Given the description of an element on the screen output the (x, y) to click on. 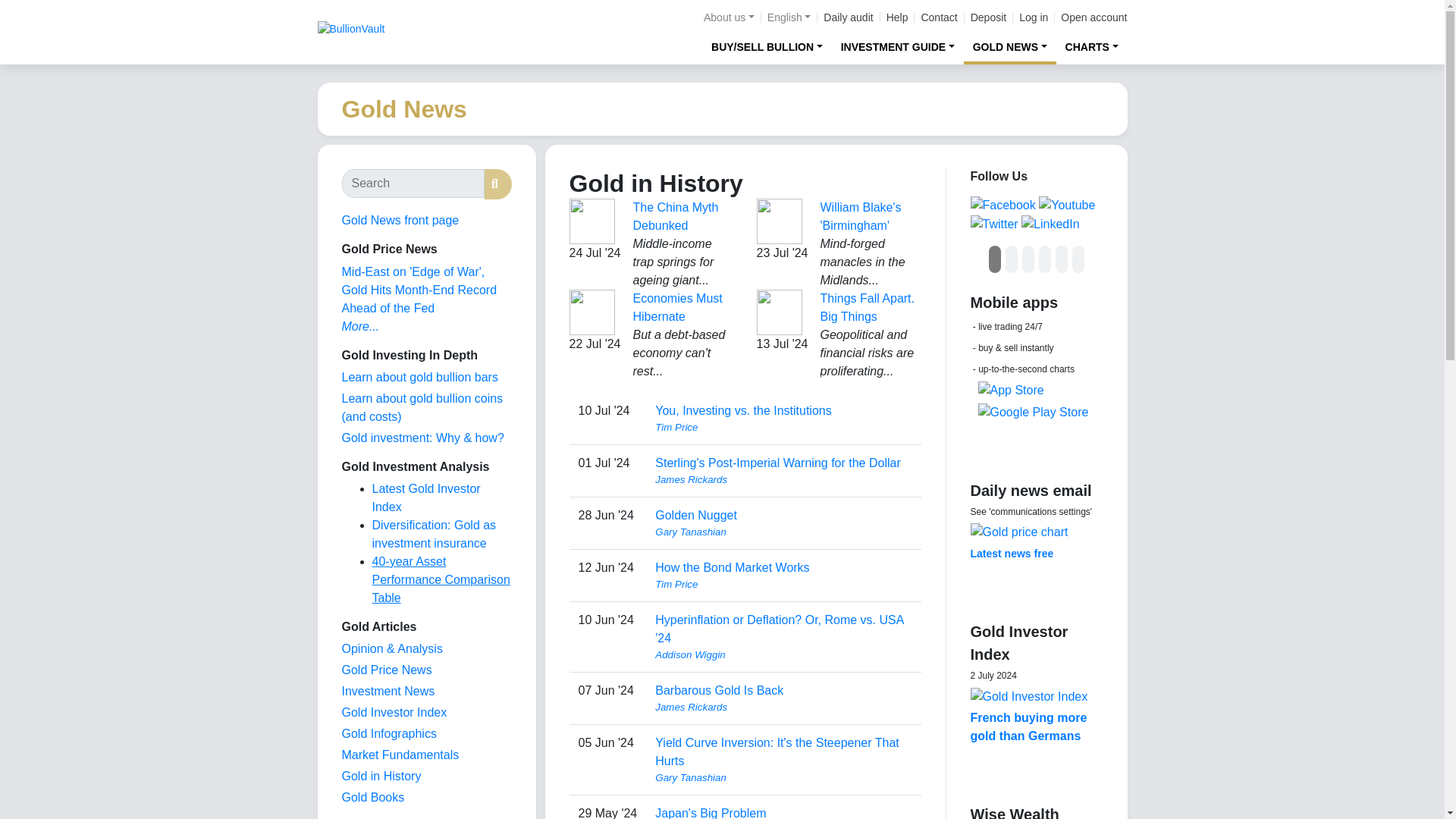
Books about Gold Reviewed (372, 797)
Market Fundamentals (399, 754)
View user profile. (783, 479)
Enter the terms you wish to search for. (411, 183)
Contact (938, 17)
Deposit (988, 17)
INVESTMENT GUIDE (897, 46)
View user profile. (783, 584)
View user profile. (783, 654)
Investment News (386, 690)
Gold Investor Index (393, 712)
The View from the Vault (391, 648)
Gold in History (380, 775)
Daily audit (848, 17)
Gold Infographics (387, 733)
